Given the description of an element on the screen output the (x, y) to click on. 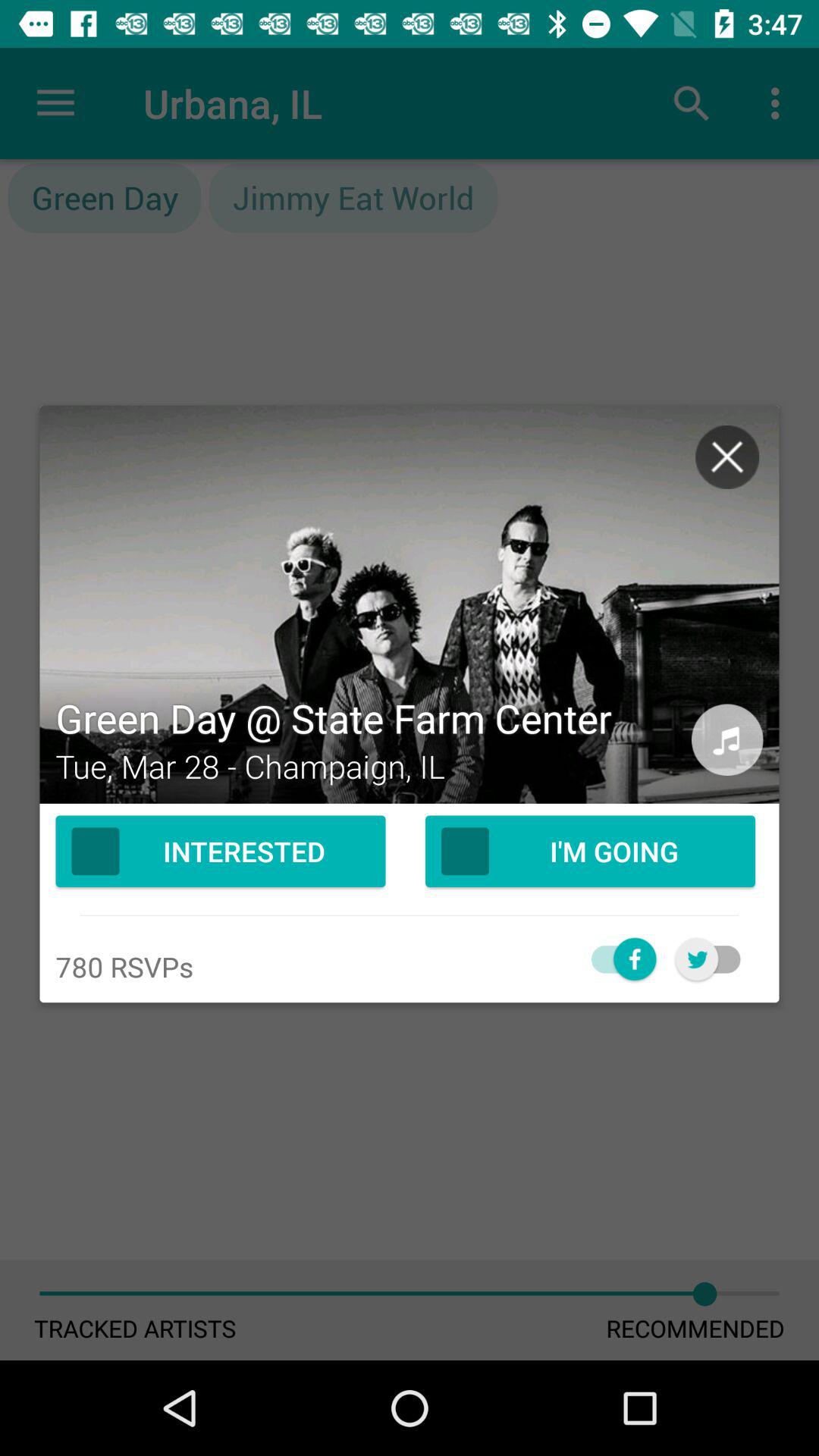
click on favorites (716, 959)
